Given the description of an element on the screen output the (x, y) to click on. 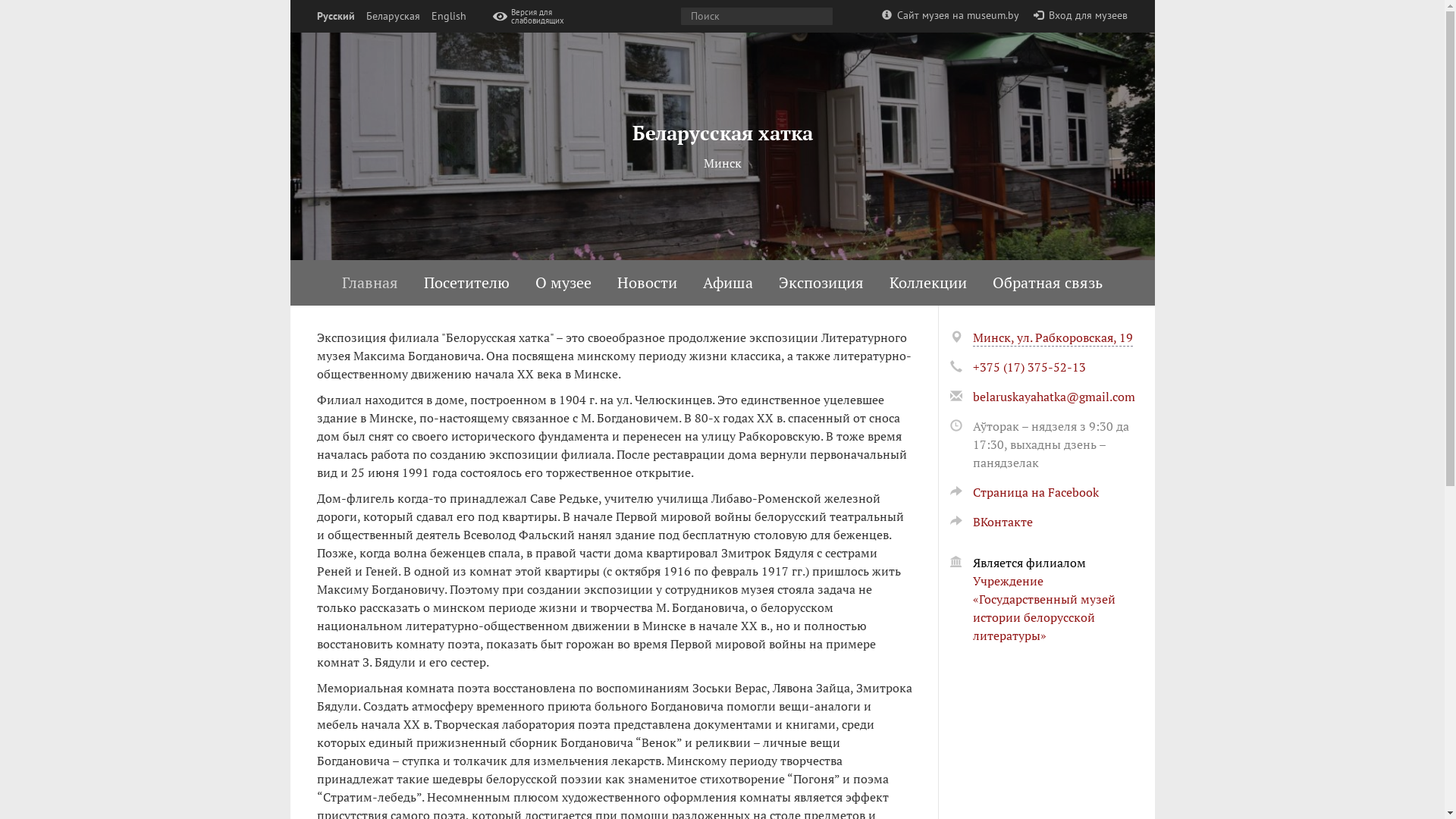
English Element type: text (447, 16)
belaruskayahatka@gmail.com Element type: text (1053, 396)
+375 (17) 375-52-13 Element type: text (1028, 366)
